Given the description of an element on the screen output the (x, y) to click on. 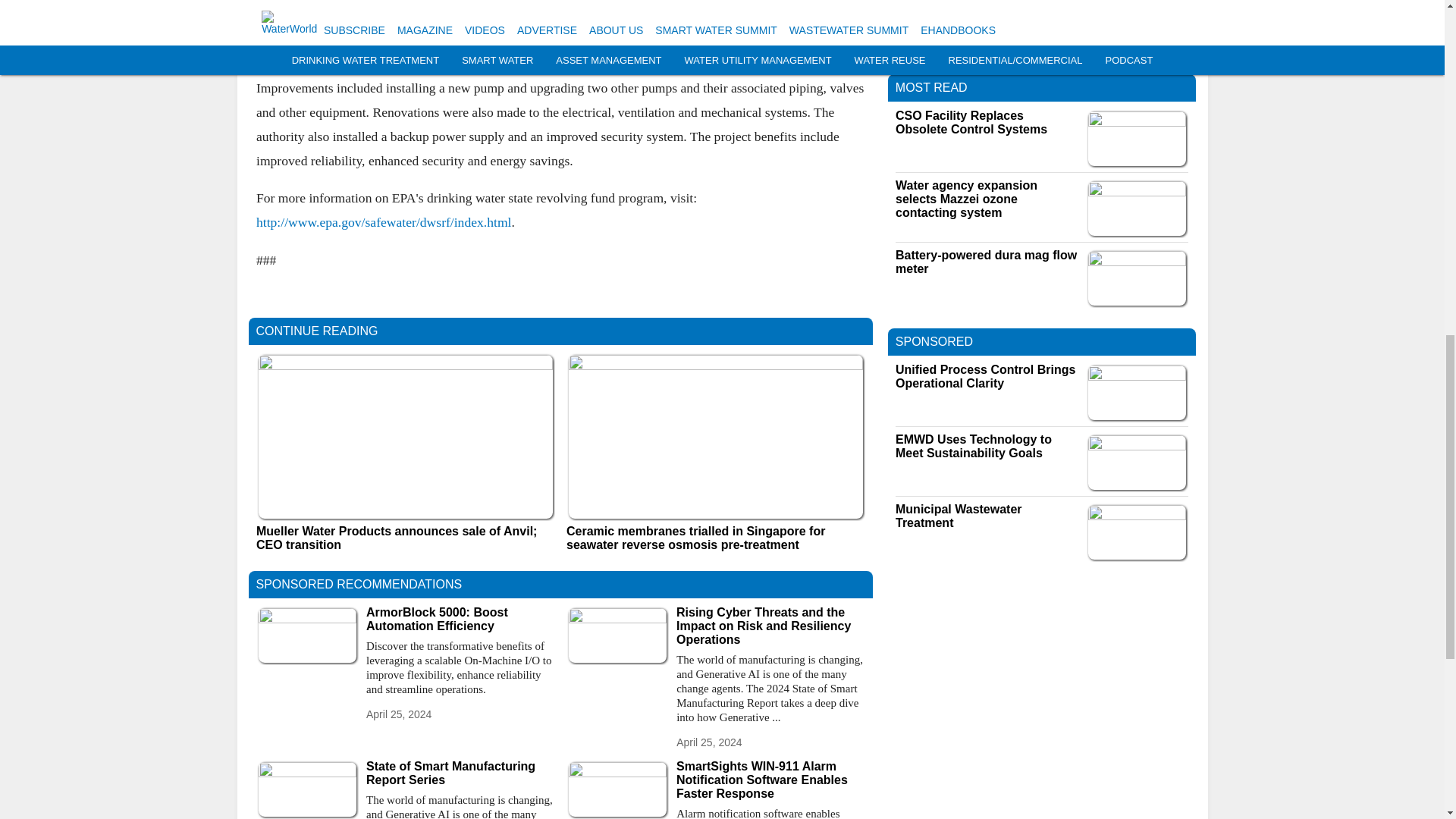
ArmorBlock 5000: Boost Automation Efficiency (459, 618)
State of Smart Manufacturing Report Series (459, 773)
